Given the description of an element on the screen output the (x, y) to click on. 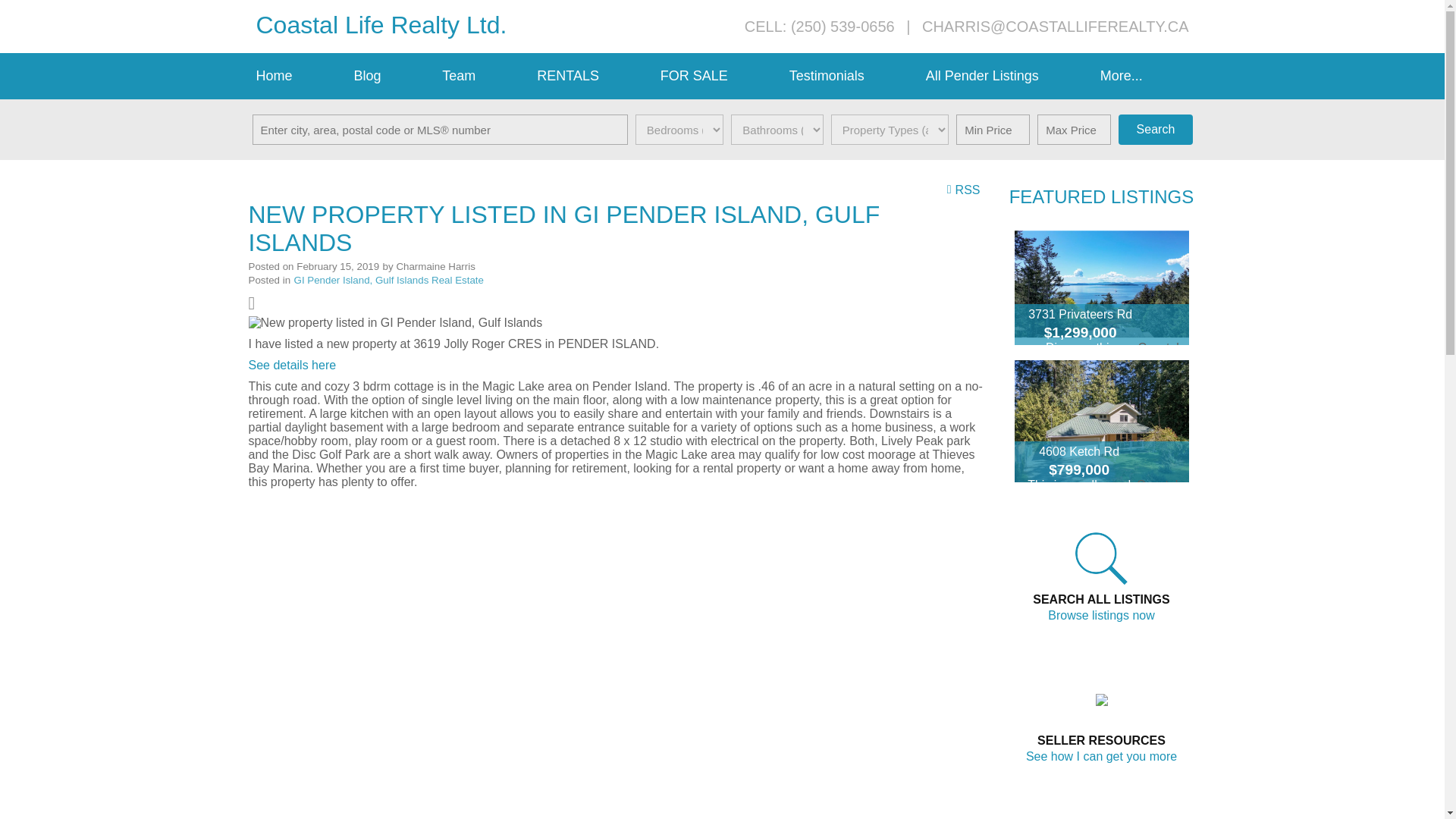
See details here (292, 364)
RSS (965, 188)
RENTALS (590, 76)
GI Pender Island, Gulf Islands Real Estate (388, 279)
Blog (389, 76)
More... (1144, 76)
Team (481, 76)
Home (297, 76)
FOR SALE (716, 76)
All Pender Listings (1005, 76)
